Given the description of an element on the screen output the (x, y) to click on. 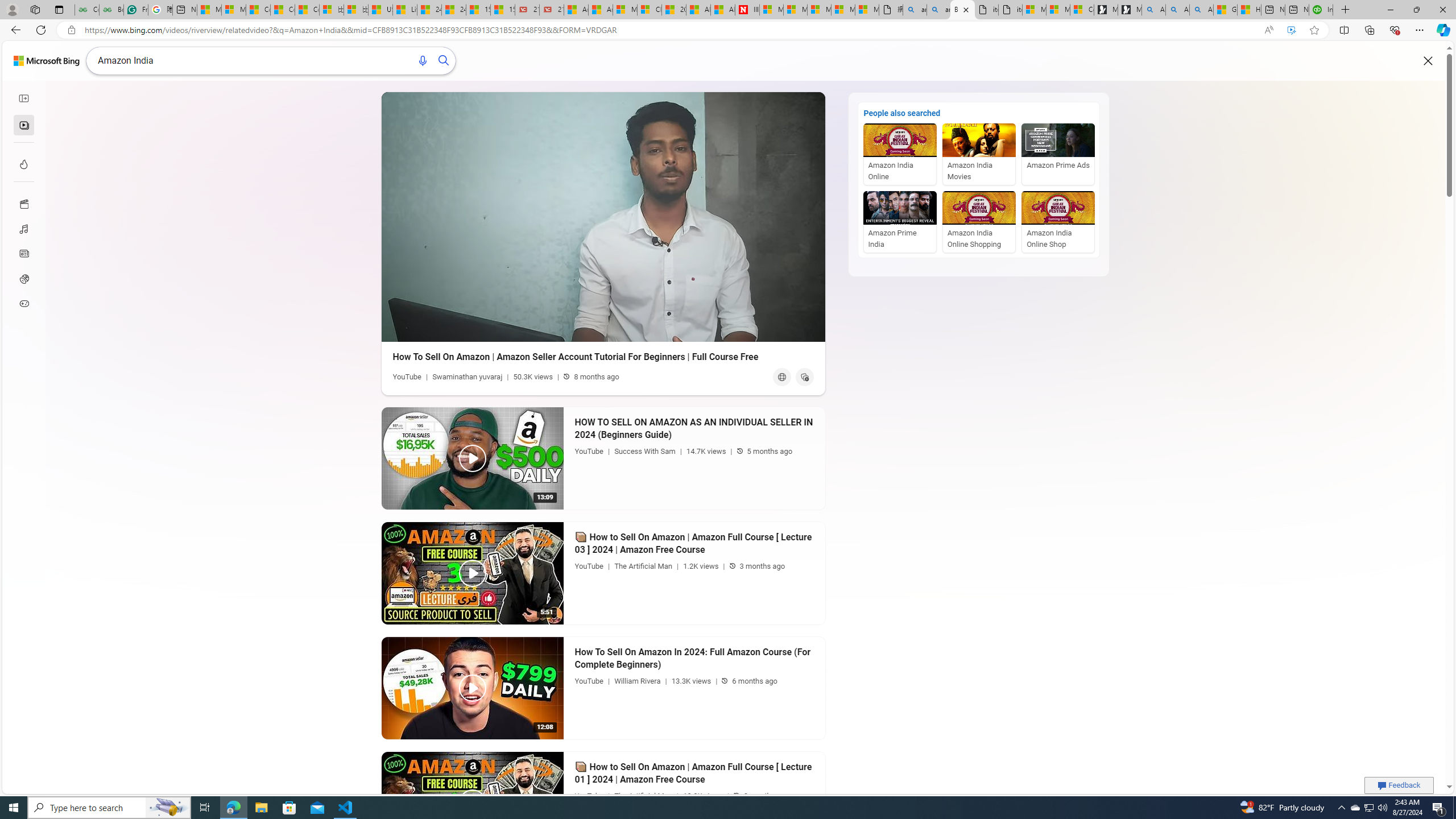
Alabama high school quarterback dies - Search (1153, 9)
Illness news & latest pictures from Newsweek.com (747, 9)
Cloud Computing Services | Microsoft Azure (648, 9)
Best SSL Certificates Provider in India - GeeksforGeeks (111, 9)
Movie (23, 203)
toggle button (23, 98)
Free AI Writing Assistance for Students | Grammarly (135, 9)
